Given the description of an element on the screen output the (x, y) to click on. 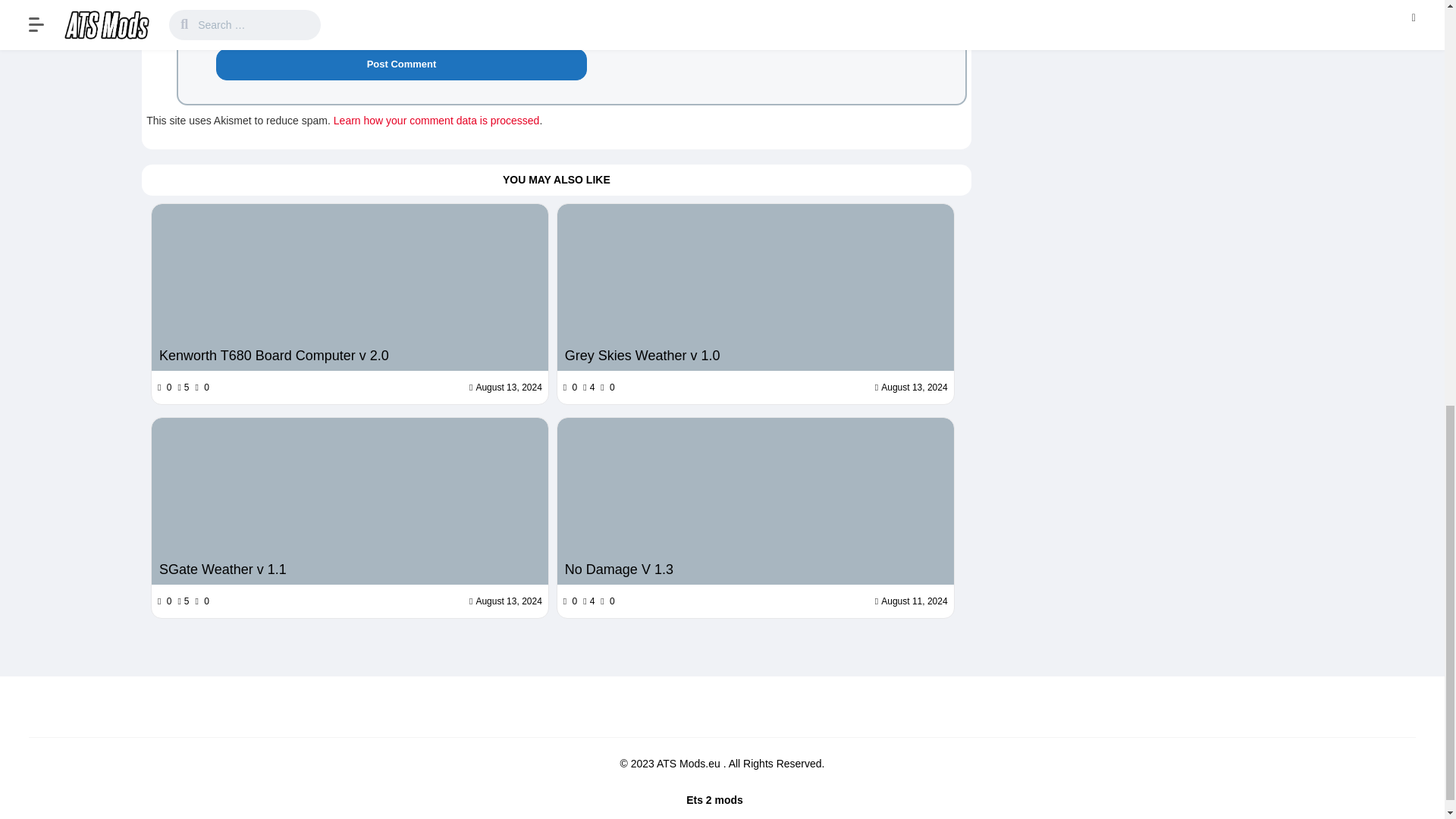
Learn how your comment data is processed (436, 120)
Post Comment (400, 64)
Kenworth T680 Board Computer v 2.0 (349, 287)
SGate Weather v 1.1 (349, 569)
Grey Skies Weather v 1.0 (755, 287)
No Damage V 1.3 (755, 500)
SGate Weather v 1.1 (349, 500)
Grey Skies Weather v 1.0 (755, 355)
No Damage V 1.3 (755, 569)
Kenworth T680 Board Computer v 2.0 (349, 355)
